Given the description of an element on the screen output the (x, y) to click on. 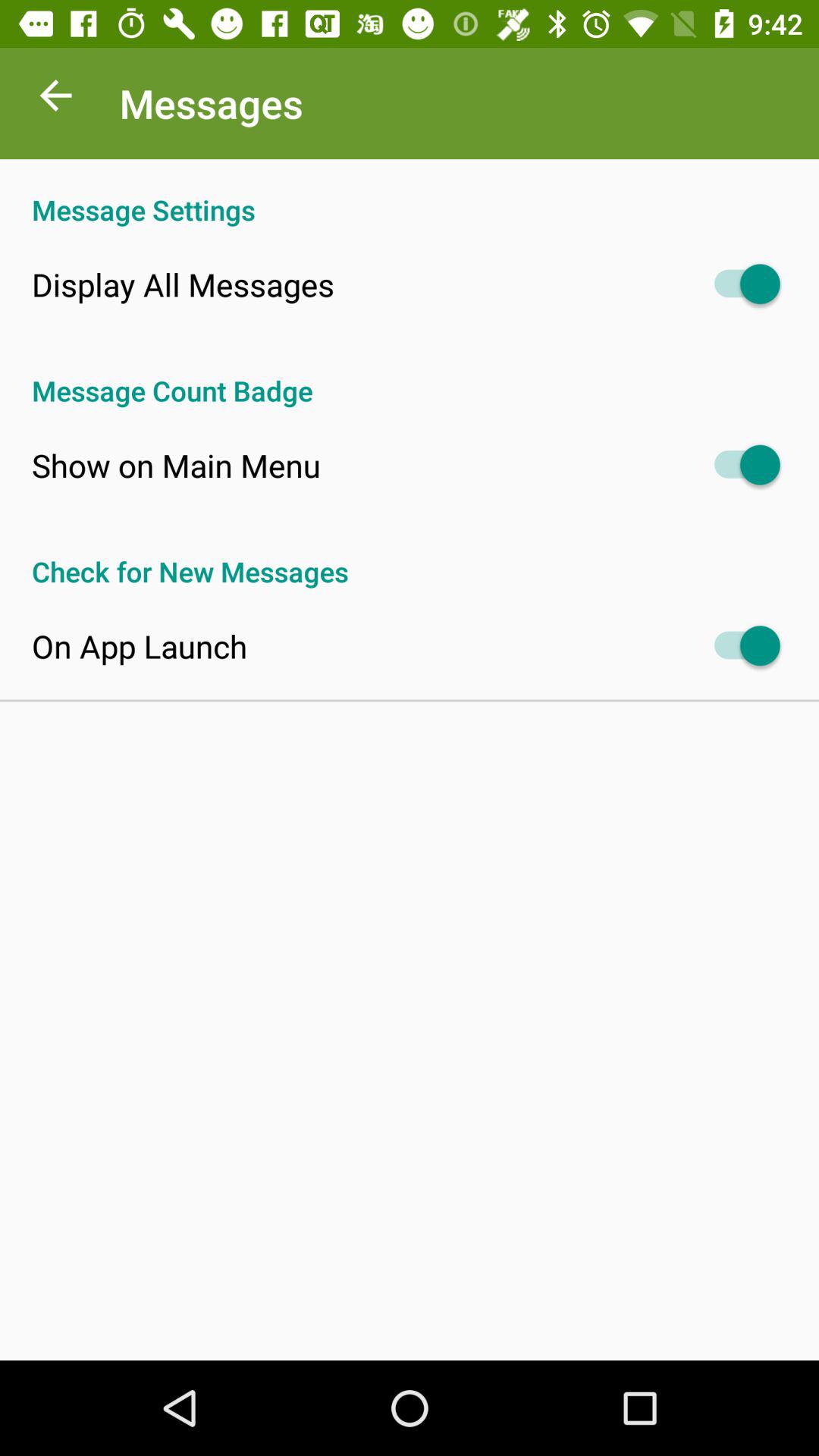
tap the check for new at the center (409, 555)
